Given the description of an element on the screen output the (x, y) to click on. 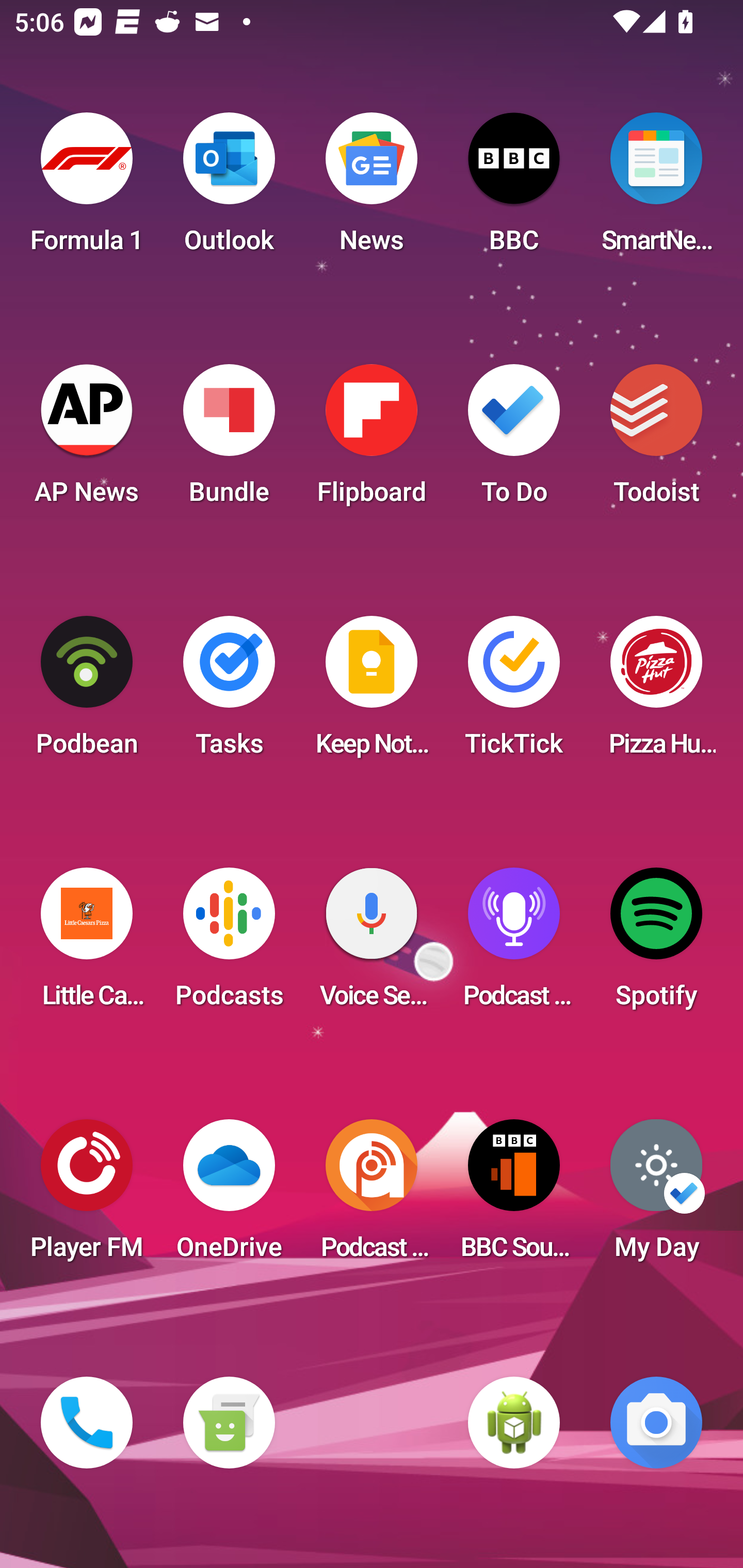
Formula 1 (86, 188)
Outlook (228, 188)
News (371, 188)
BBC (513, 188)
SmartNews (656, 188)
AP News (86, 440)
Bundle (228, 440)
Flipboard (371, 440)
To Do (513, 440)
Todoist (656, 440)
Podbean (86, 692)
Tasks (228, 692)
Keep Notes (371, 692)
TickTick (513, 692)
Pizza Hut HK & Macau (656, 692)
Little Caesars Pizza (86, 943)
Podcasts (228, 943)
Voice Search (371, 943)
Podcast Player (513, 943)
Spotify (656, 943)
Player FM (86, 1195)
OneDrive (228, 1195)
Podcast Addict (371, 1195)
BBC Sounds (513, 1195)
My Day (656, 1195)
Phone (86, 1422)
Messaging (228, 1422)
WebView Browser Tester (513, 1422)
Camera (656, 1422)
